Given the description of an element on the screen output the (x, y) to click on. 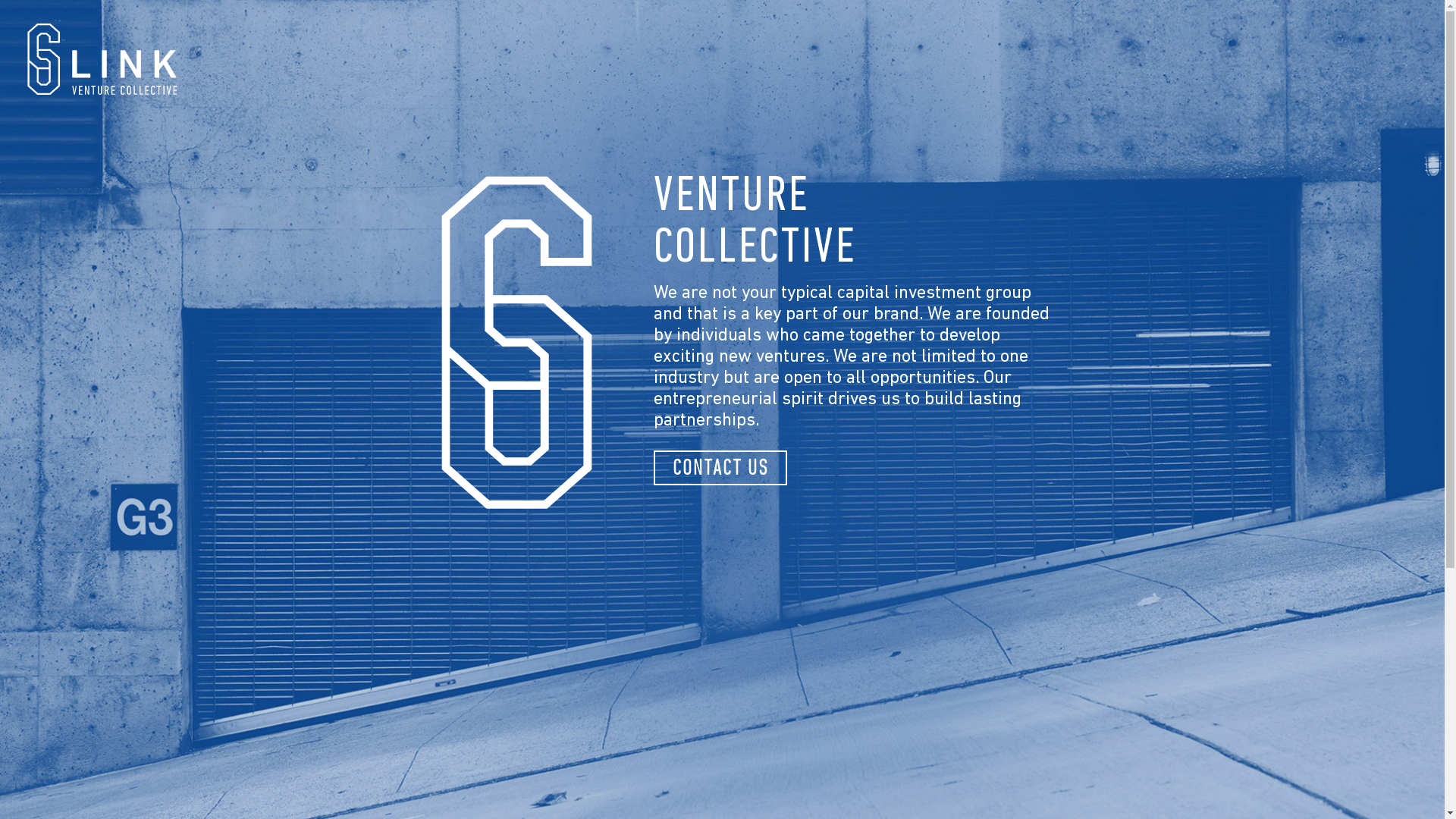
CONTACT US Element type: text (720, 467)
